Given the description of an element on the screen output the (x, y) to click on. 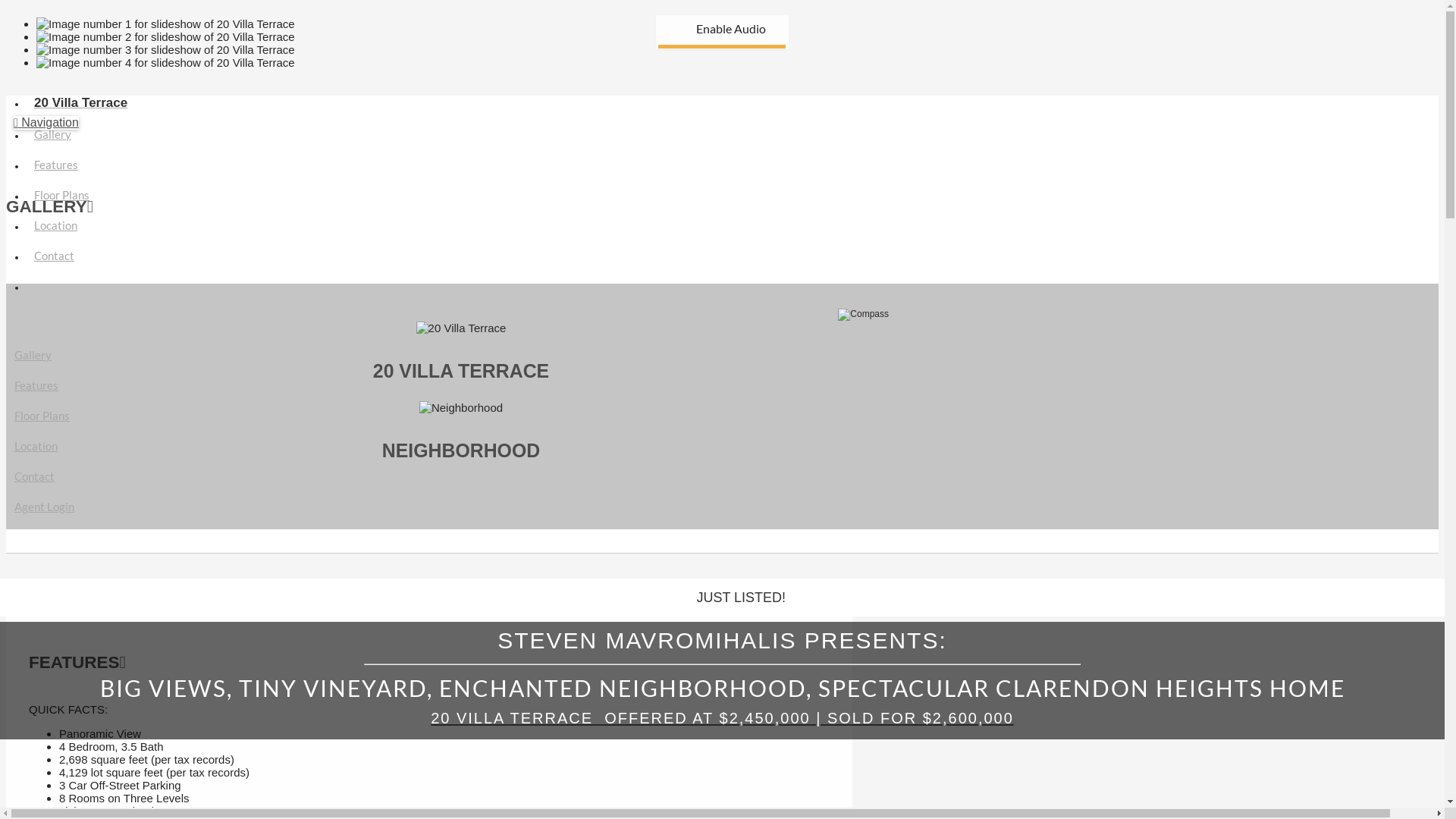
Gallery Element type: text (32, 354)
Enable Audio Element type: text (691, 21)
Location Element type: text (54, 217)
Floor Plans Element type: text (42, 415)
Location Element type: text (35, 445)
Contact Element type: text (53, 248)
Floor Plans Element type: text (60, 187)
Features Element type: text (36, 385)
Navigation Element type: text (45, 122)
Features Element type: text (54, 157)
Gallery Element type: text (51, 126)
20 Villa Terrace Element type: text (79, 95)
Agent Login Element type: text (44, 506)
Contact Element type: text (34, 476)
